Given the description of an element on the screen output the (x, y) to click on. 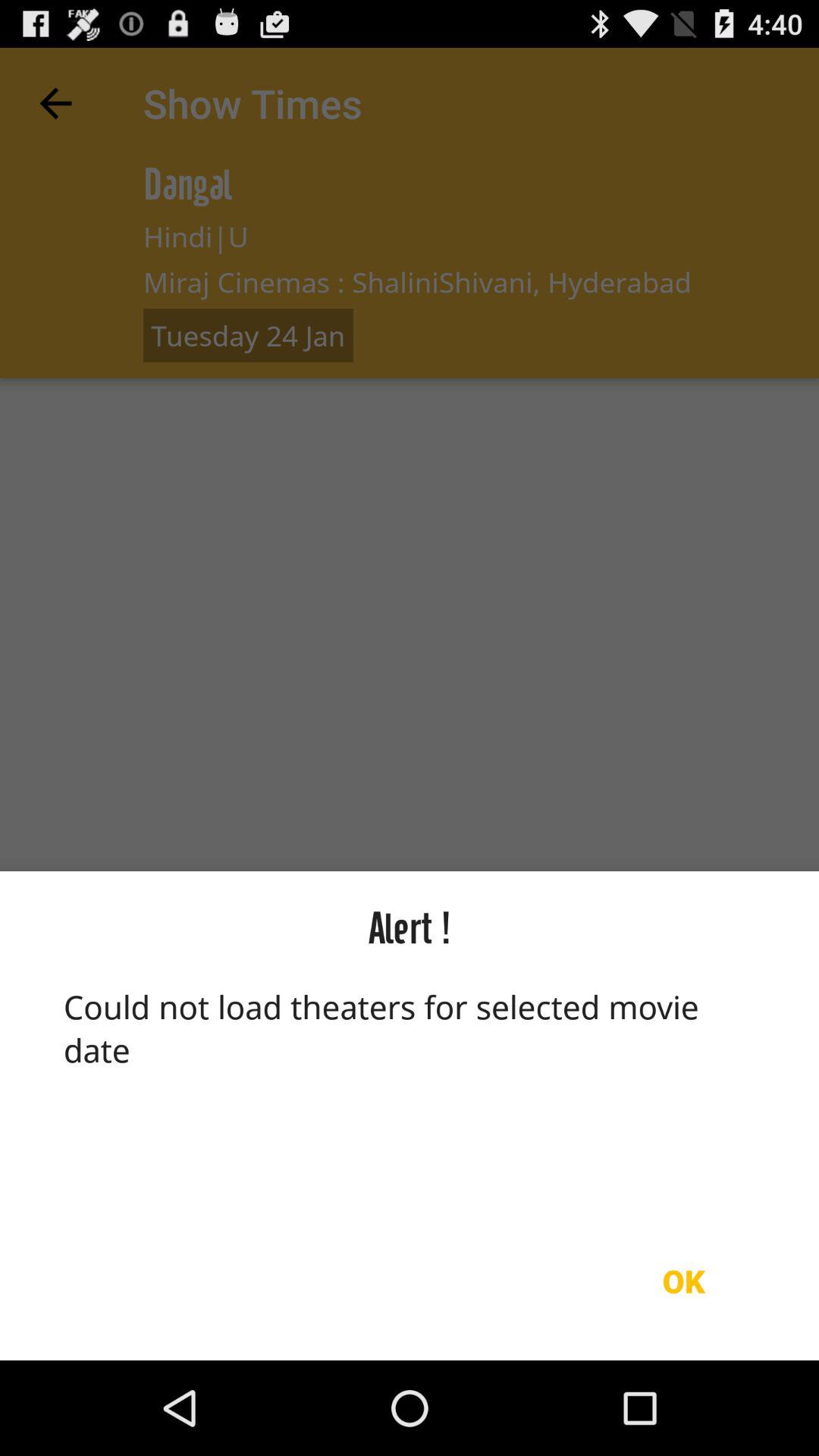
open icon below could not load icon (683, 1280)
